Given the description of an element on the screen output the (x, y) to click on. 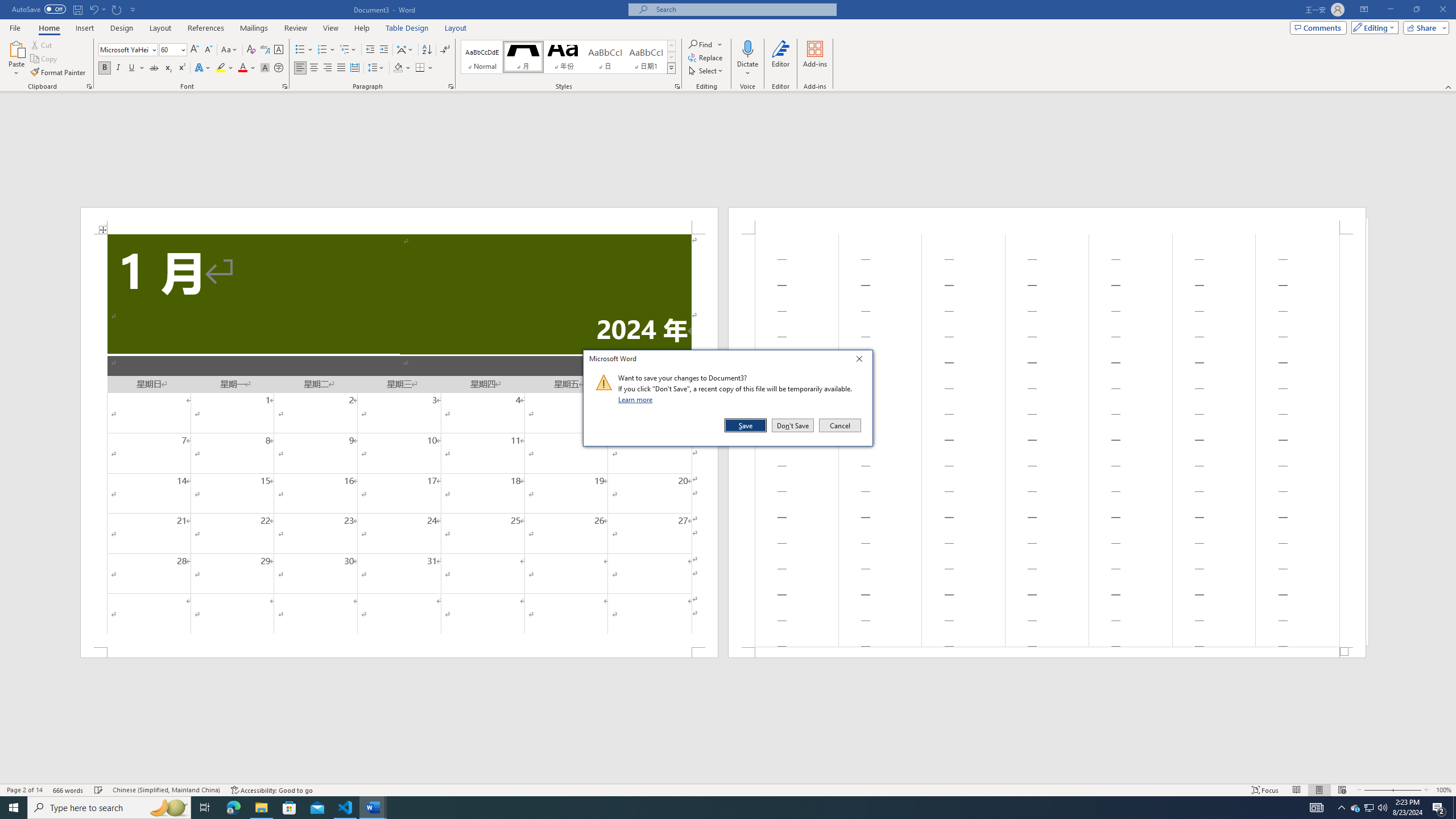
Cancel (839, 425)
Undo Apply Quick Style (96, 9)
